Given the description of an element on the screen output the (x, y) to click on. 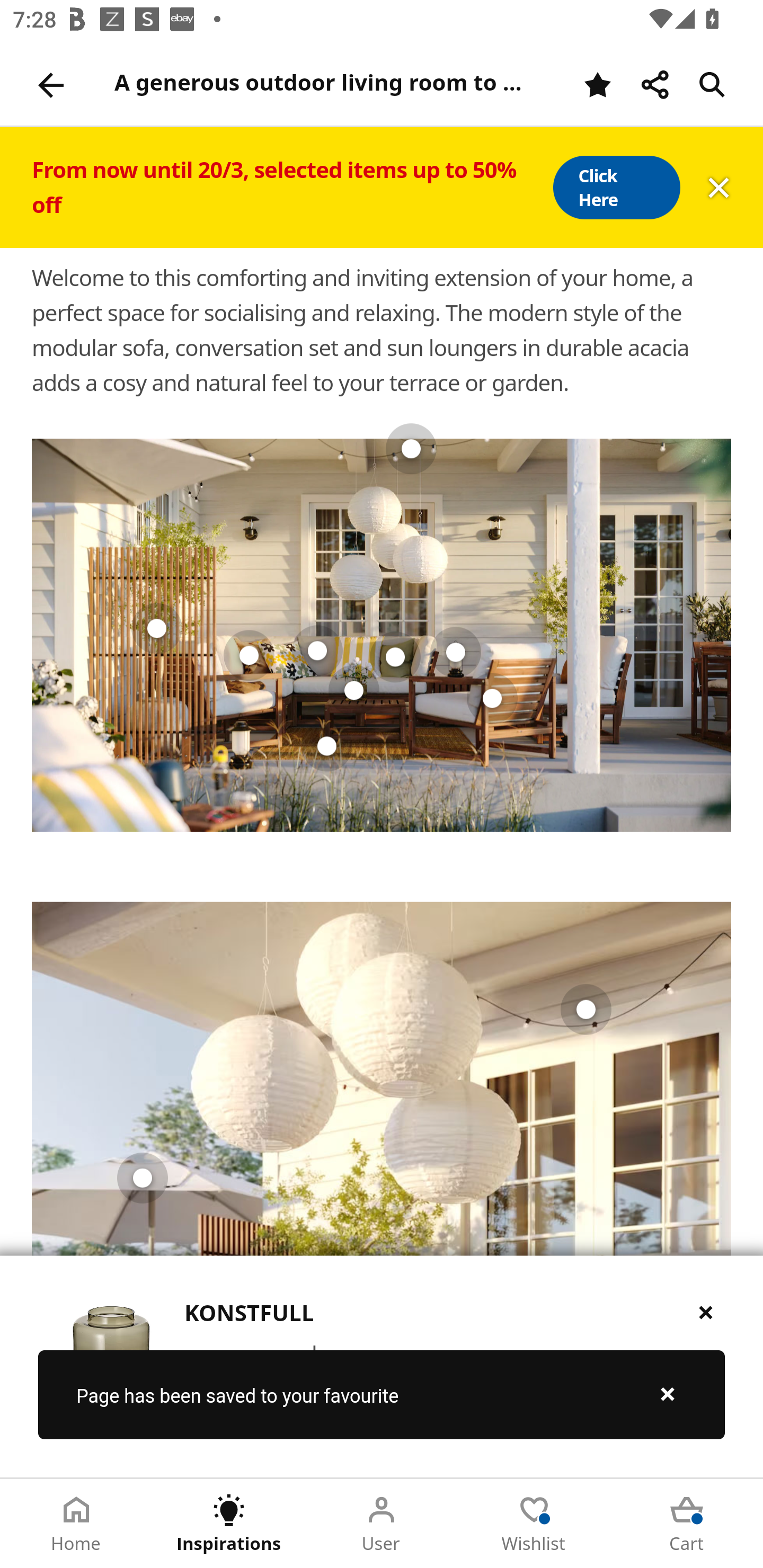
Click Here (615, 187)
Page has been saved to your favourite (381, 1394)
Home
Tab 1 of 5 (76, 1522)
Inspirations
Tab 2 of 5 (228, 1522)
User
Tab 3 of 5 (381, 1522)
Wishlist
Tab 4 of 5 (533, 1522)
Cart
Tab 5 of 5 (686, 1522)
